Given the description of an element on the screen output the (x, y) to click on. 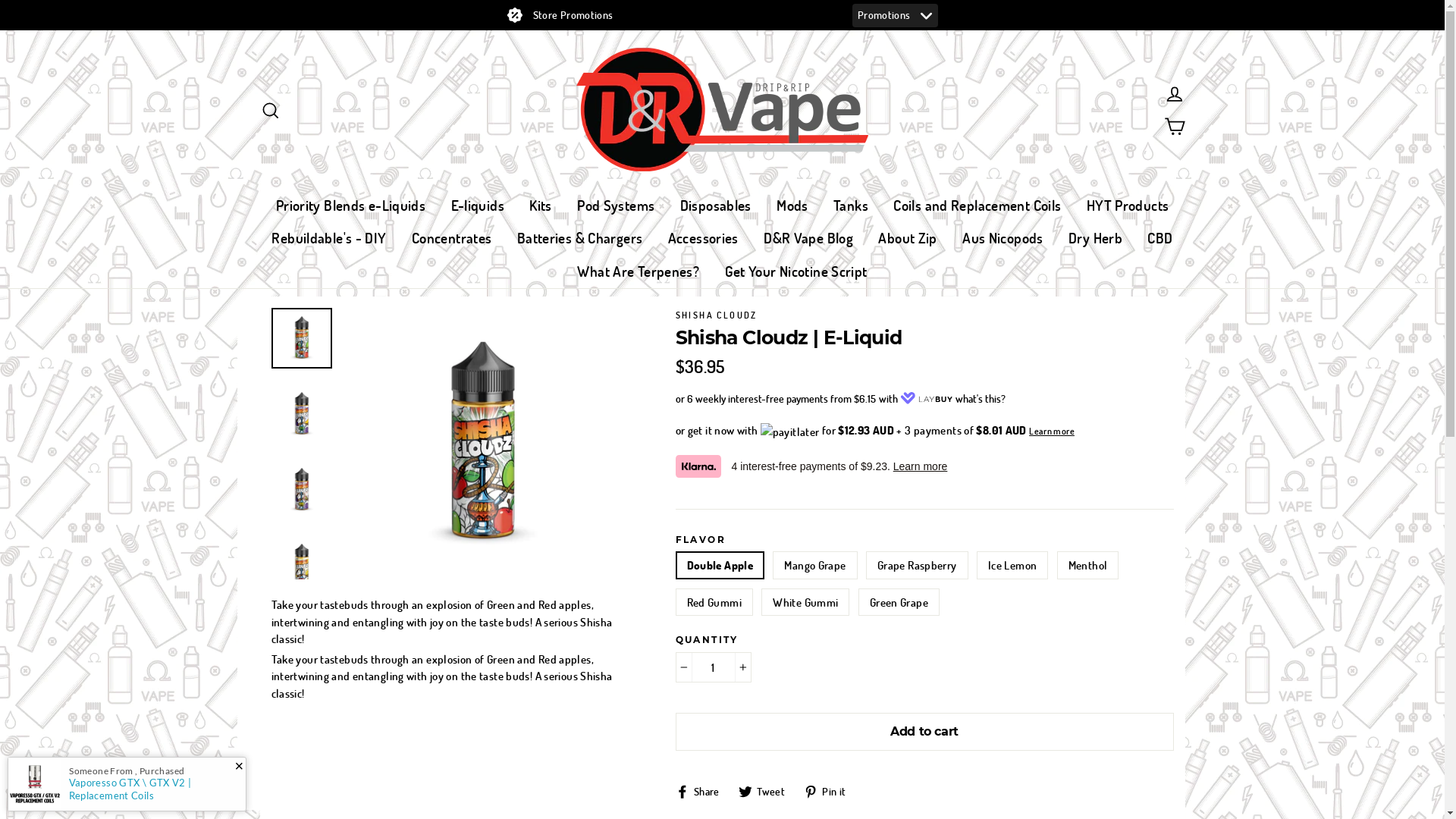
Aus Nicopods Element type: text (1002, 237)
D&R Vape Blog Element type: text (808, 237)
Coils and Replacement Coils Element type: text (976, 205)
+ Element type: text (741, 667)
Tanks Element type: text (850, 205)
Pin it
Pin on Pinterest Element type: text (830, 790)
CBD Element type: text (1159, 237)
Disposables Element type: text (715, 205)
Mods Element type: text (792, 205)
About Zip Element type: text (906, 237)
Get Your Nicotine Script Element type: text (795, 271)
HYT Products Element type: text (1127, 205)
Dry Herb Element type: text (1095, 237)
Batteries & Chargers Element type: text (579, 237)
Learn more Element type: text (1051, 428)
Rebuildable's - DIY Element type: text (328, 237)
Pod Systems Element type: text (615, 205)
Skip to content Element type: text (0, 30)
E-liquids Element type: text (477, 205)
Add to cart Element type: text (923, 731)
Tweet
Tweet on Twitter Element type: text (767, 790)
Accessories Element type: text (702, 237)
Concentrates Element type: text (451, 237)
Vaporesso GTX \ GTX V2 | Replacement Coils Element type: text (130, 789)
Kits Element type: text (540, 205)
What Are Terpenes? Element type: text (637, 271)
what's this? Element type: text (980, 397)
Priority Blends e-Liquids Element type: text (350, 205)
Share
Share on Facebook Element type: text (702, 790)
